Given the description of an element on the screen output the (x, y) to click on. 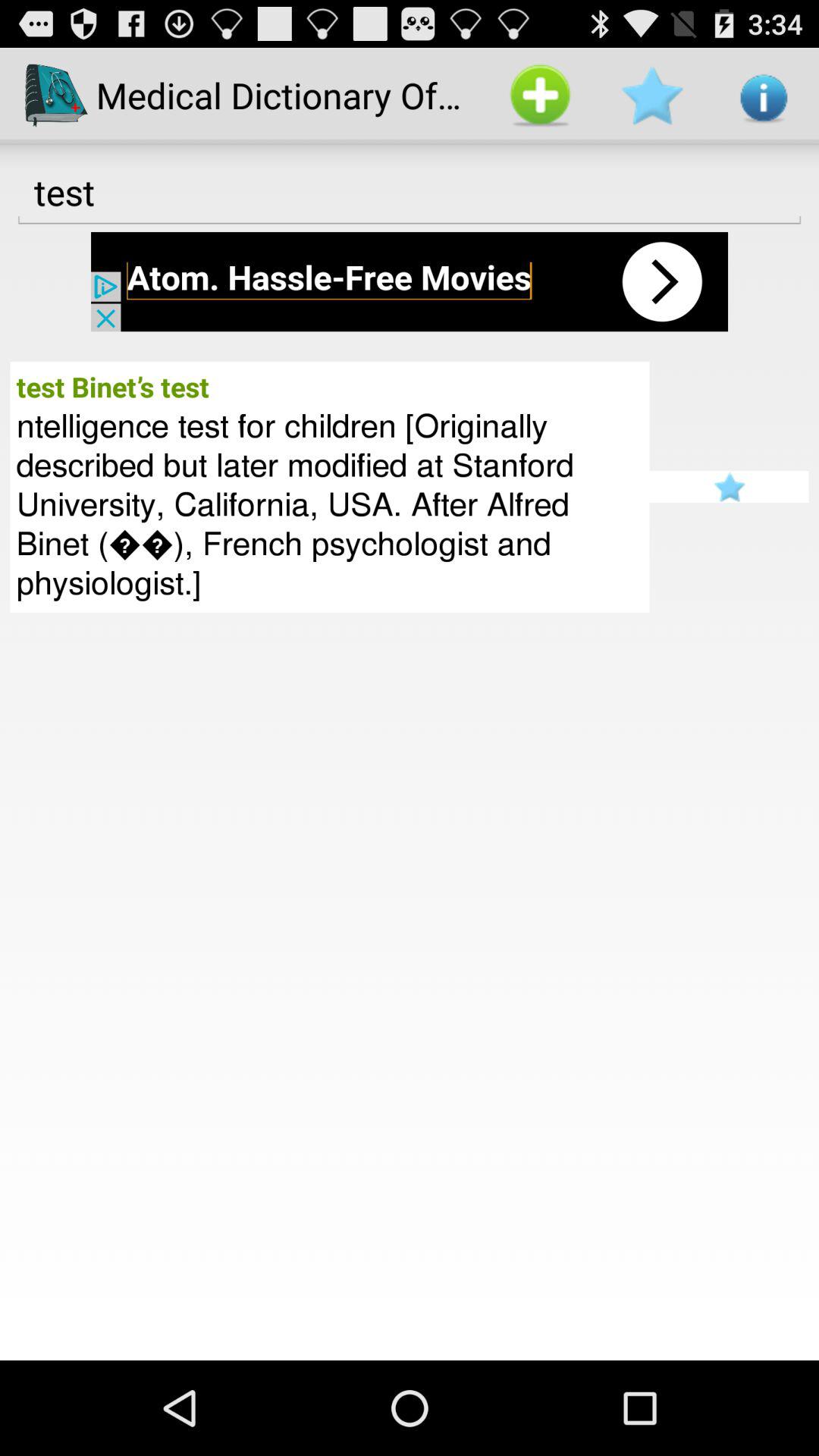
go to ratting (728, 486)
